Given the description of an element on the screen output the (x, y) to click on. 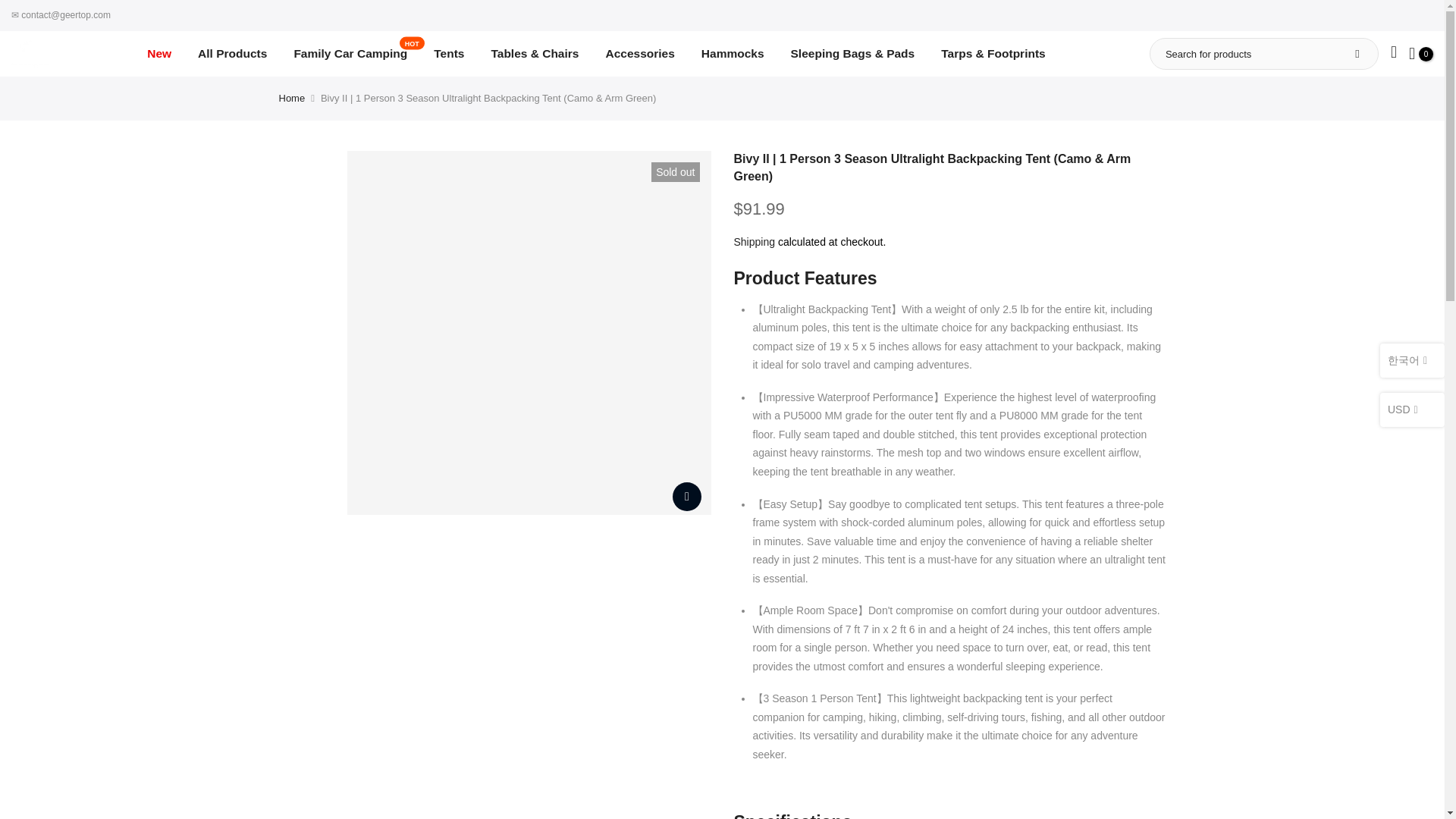
Home (350, 53)
0 (292, 98)
New (1420, 53)
All Products (158, 53)
Shipping (232, 53)
Tents (754, 241)
Hammocks (448, 53)
Accessories (732, 53)
